Given the description of an element on the screen output the (x, y) to click on. 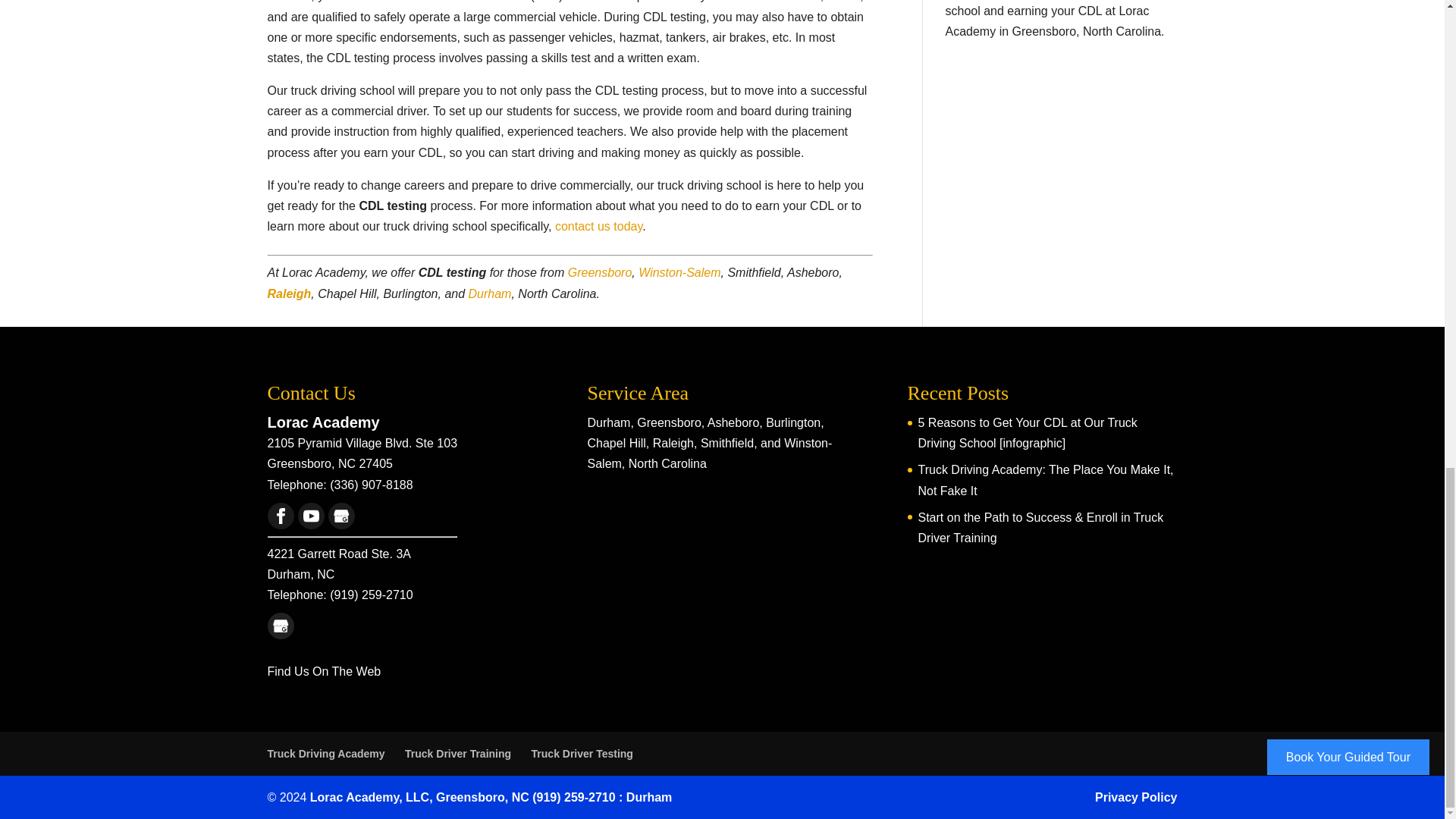
Google My Business (280, 625)
Durham (490, 293)
Facebook (280, 515)
Google My Business (341, 515)
Google My Business (280, 625)
Facebook (280, 515)
Raleigh (288, 293)
YouTube (310, 515)
Google My Business (340, 515)
Greensboro (599, 272)
